Given the description of an element on the screen output the (x, y) to click on. 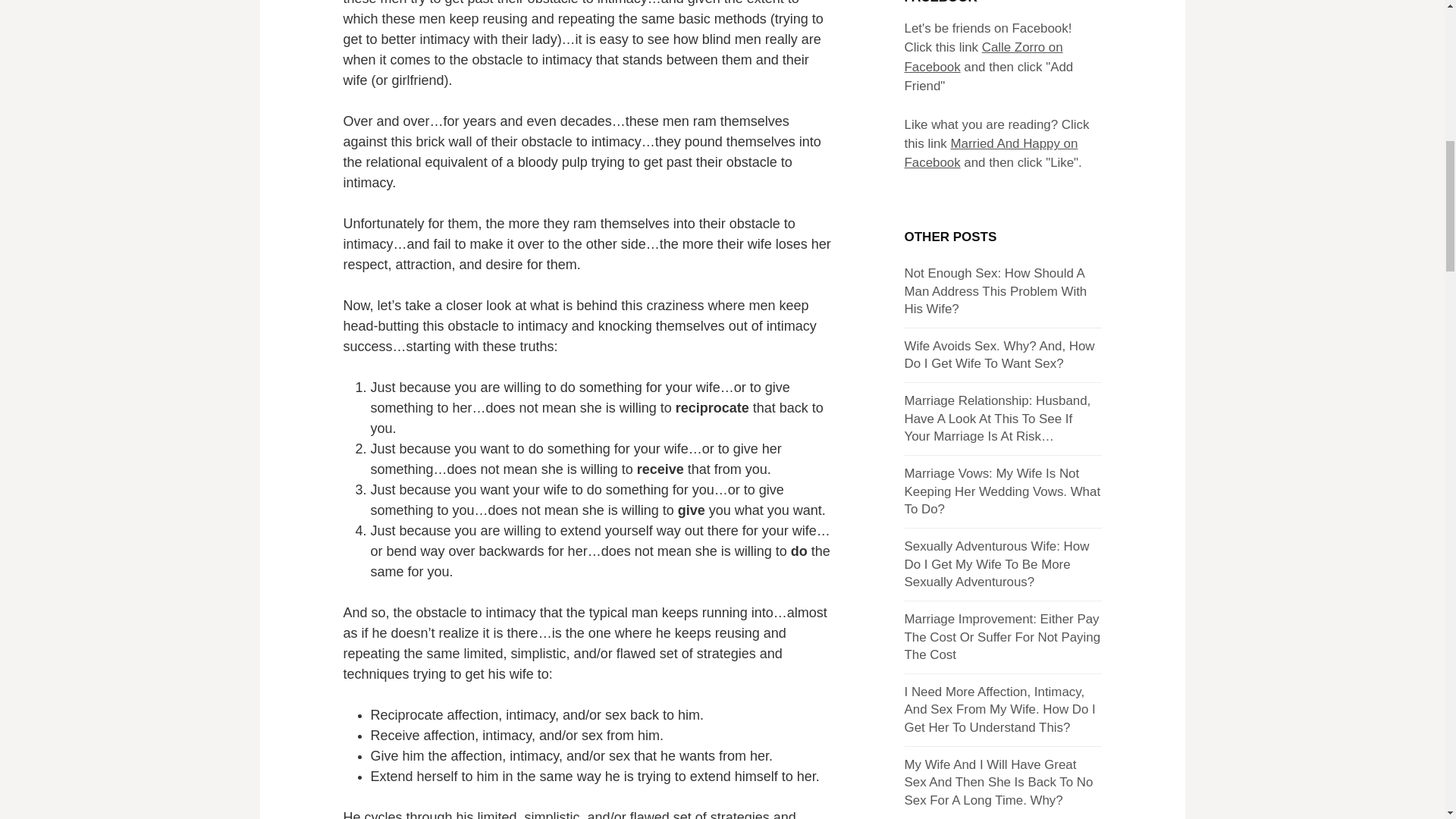
Calle Zorro on Facebook (983, 56)
Wife Avoids Sex. Why? And, How Do I Get Wife To Want Sex? (999, 355)
Married And Happy on Facebook (990, 152)
